Given the description of an element on the screen output the (x, y) to click on. 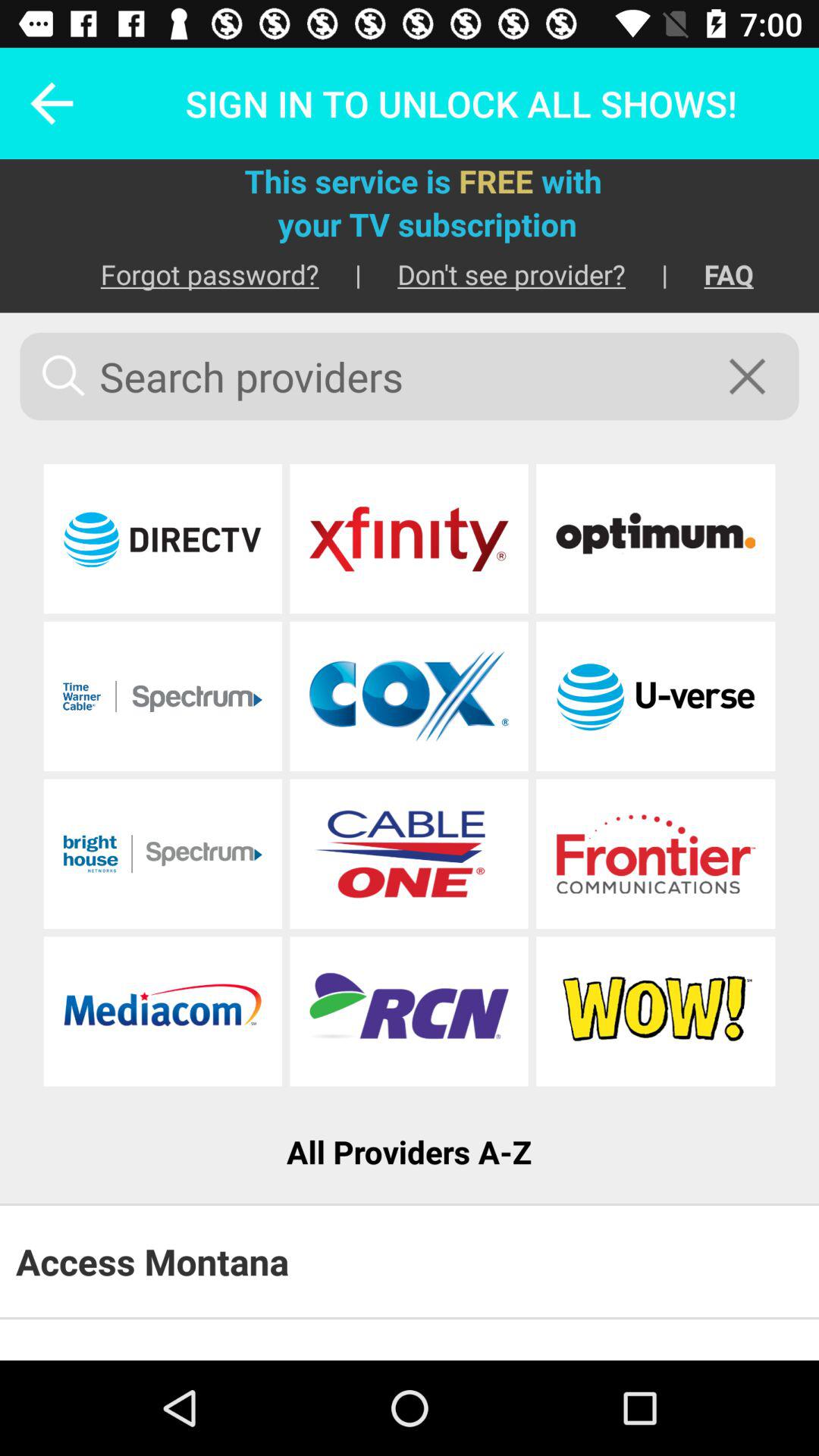
at t u-verse (655, 696)
